Given the description of an element on the screen output the (x, y) to click on. 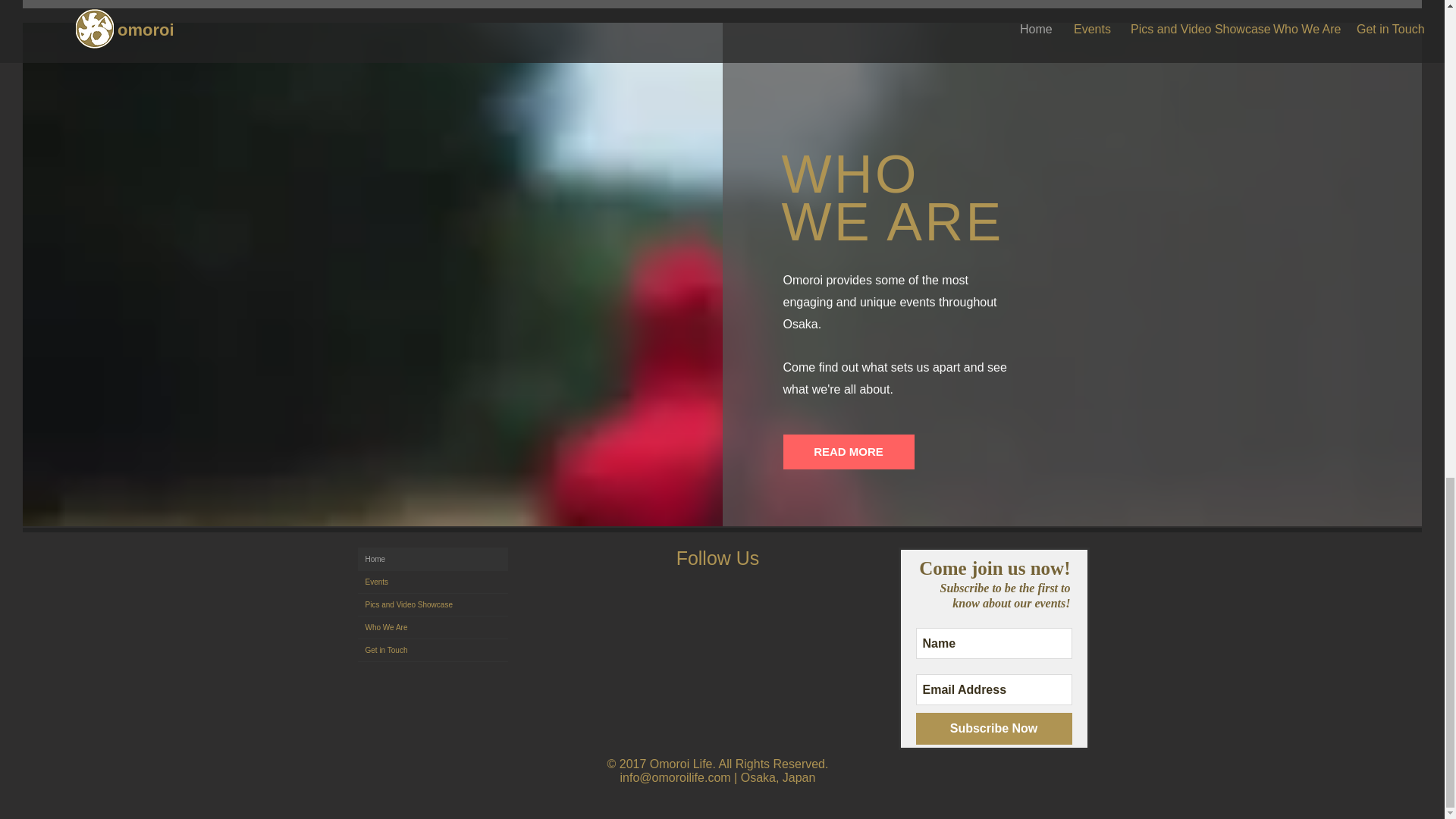
Who We Are (433, 627)
Home (433, 558)
READ MORE (848, 451)
Pics and Video Showcase (433, 604)
